Given the description of an element on the screen output the (x, y) to click on. 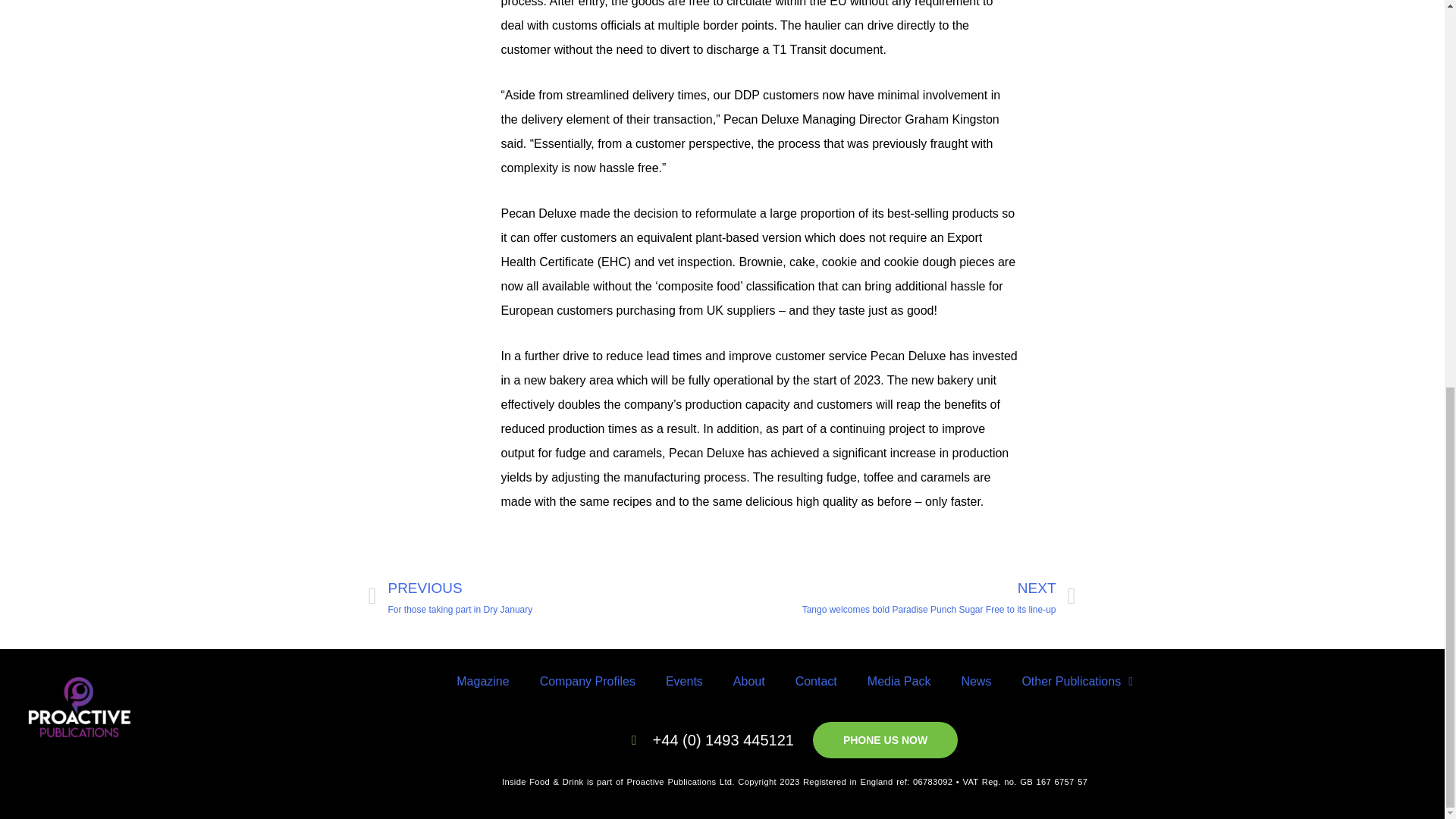
Media Pack (898, 681)
Events (683, 681)
Contact (815, 681)
Other Publications (1077, 681)
About (748, 681)
Magazine (482, 681)
Company Profiles (587, 681)
News (545, 596)
